Given the description of an element on the screen output the (x, y) to click on. 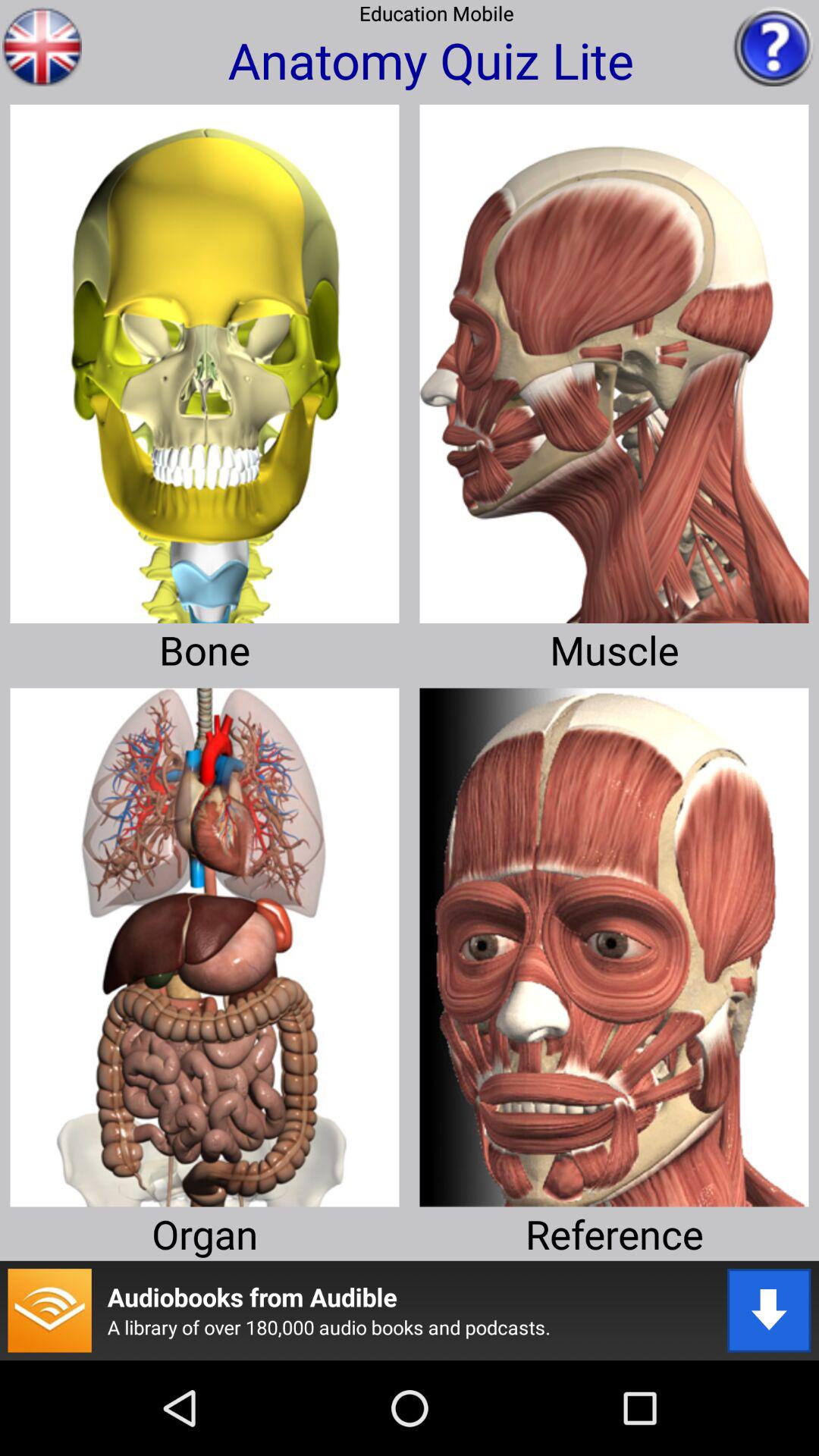
learn about muscle (613, 358)
